Given the description of an element on the screen output the (x, y) to click on. 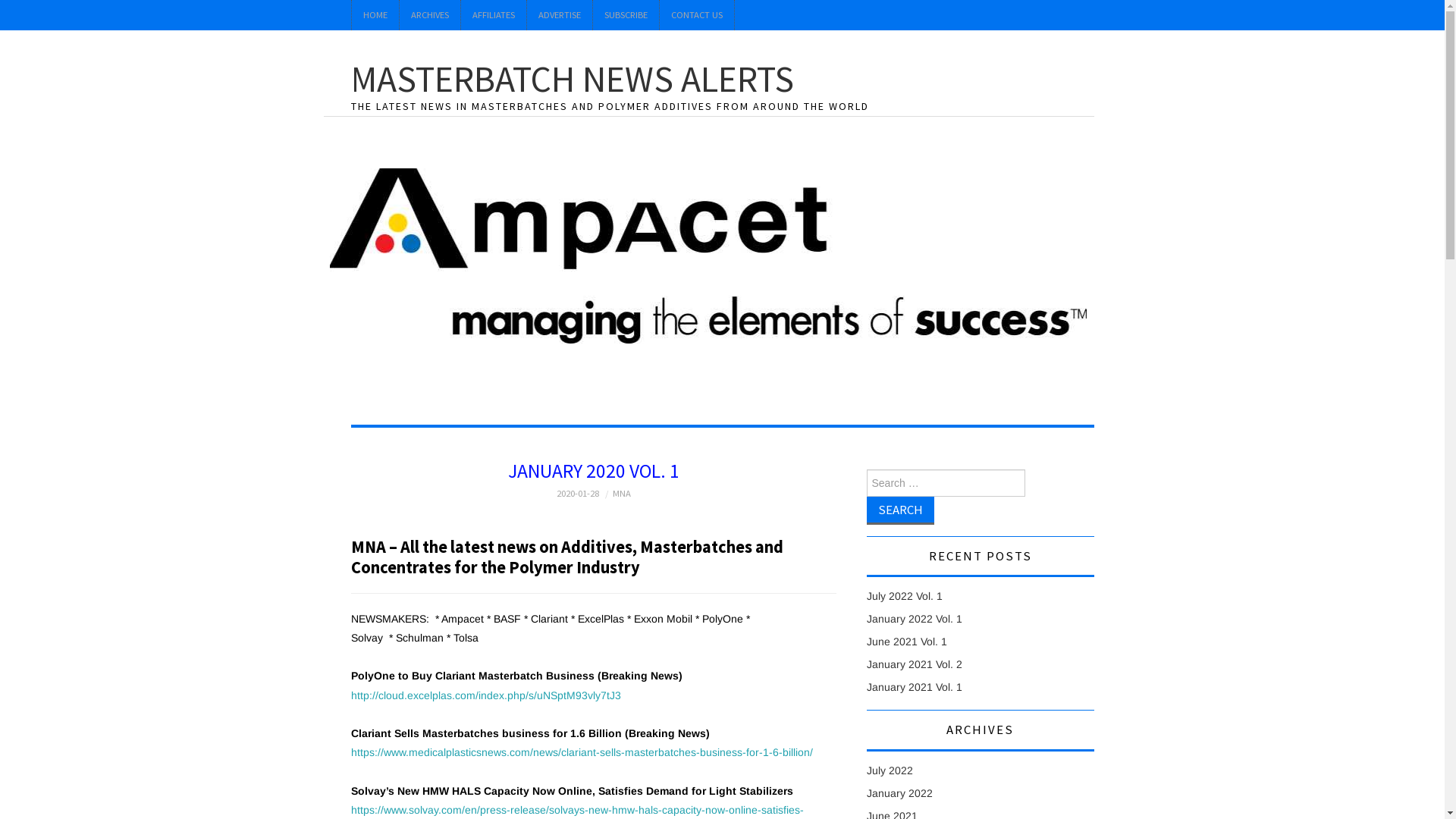
http://cloud.excelplas.com/index.php/s/uNSptM93vly7tJ3 Element type: text (485, 695)
ADVERTISE Element type: text (558, 15)
Search for: Element type: hover (945, 482)
Search Element type: text (899, 510)
HOME Element type: text (374, 15)
January 2022 Vol. 1 Element type: text (913, 618)
MASTERBATCH NEWS ALERTS Element type: text (571, 78)
AFFILIATES Element type: text (493, 15)
June 2021 Vol. 1 Element type: text (906, 641)
CONTACT US Element type: text (696, 15)
July 2022 Element type: text (889, 770)
SUBSCRIBE Element type: text (625, 15)
January 2021 Vol. 1 Element type: text (913, 686)
January 2022 Element type: text (898, 793)
2020-01-28 Element type: text (577, 492)
July 2022 Vol. 1 Element type: text (903, 595)
January 2021 Vol. 2 Element type: text (913, 664)
MNA Element type: text (621, 492)
ARCHIVES Element type: text (428, 15)
